Given the description of an element on the screen output the (x, y) to click on. 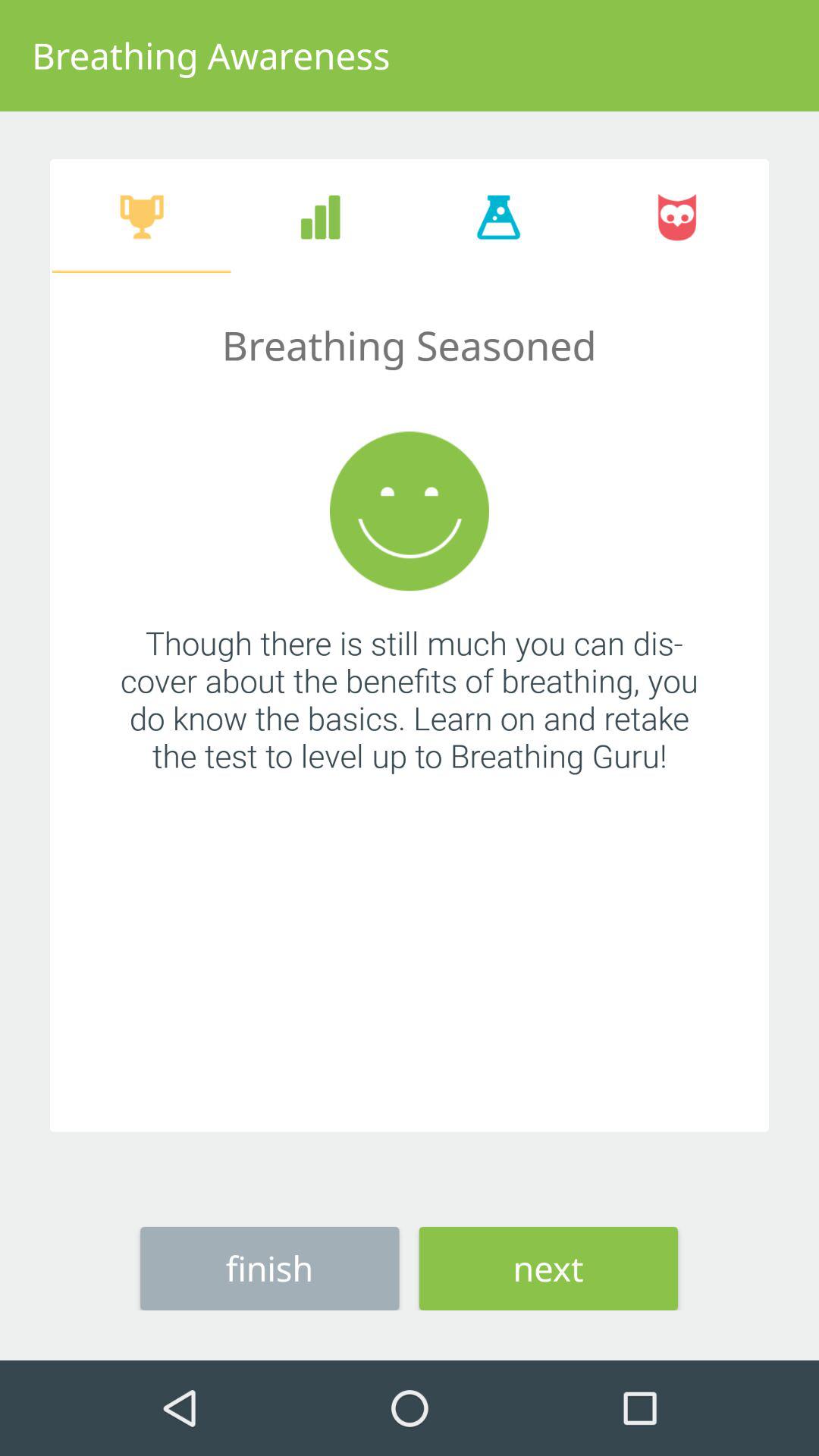
select the button at the bottom right corner (548, 1268)
